Given the description of an element on the screen output the (x, y) to click on. 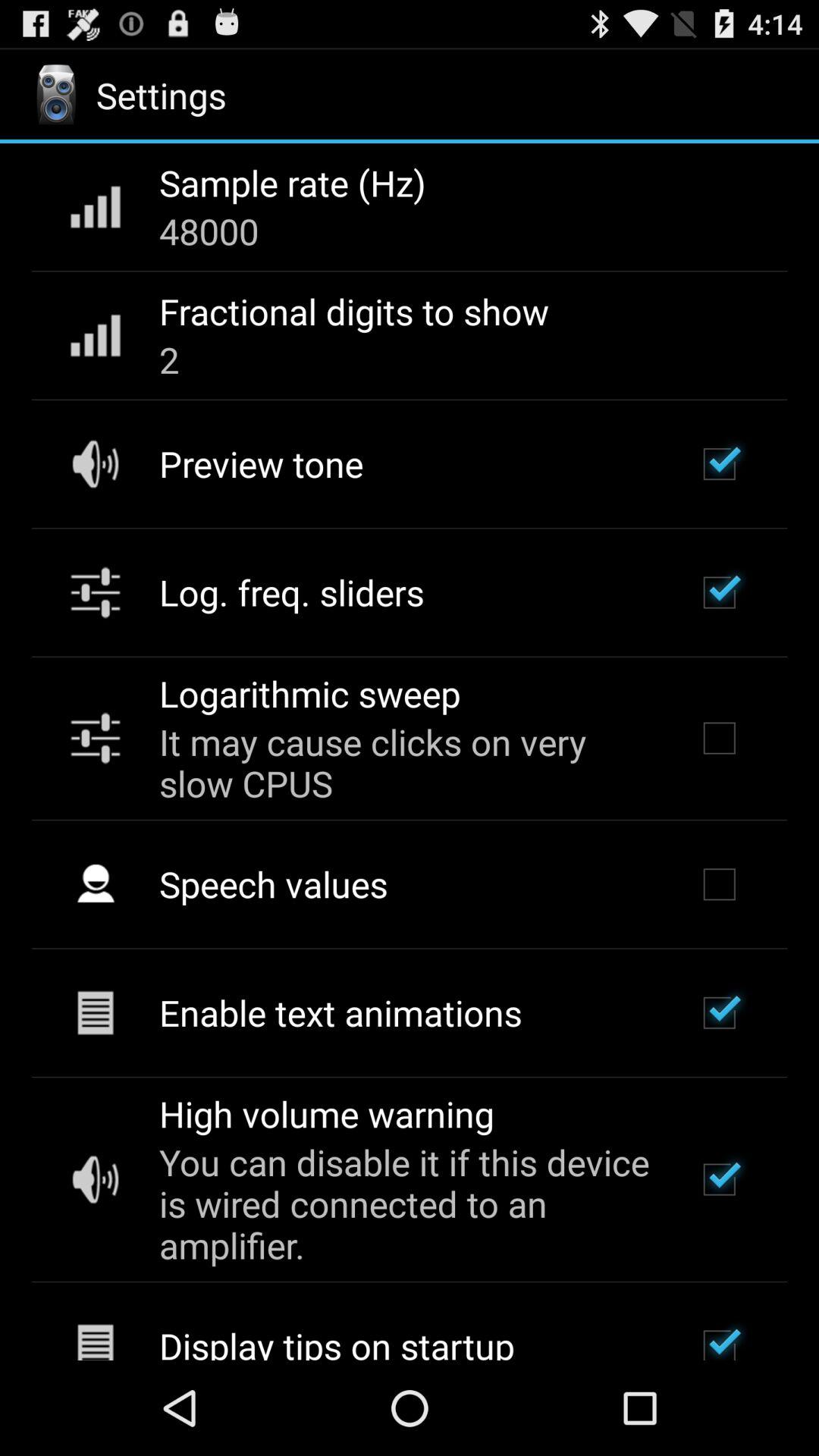
turn on you can disable item (407, 1203)
